Given the description of an element on the screen output the (x, y) to click on. 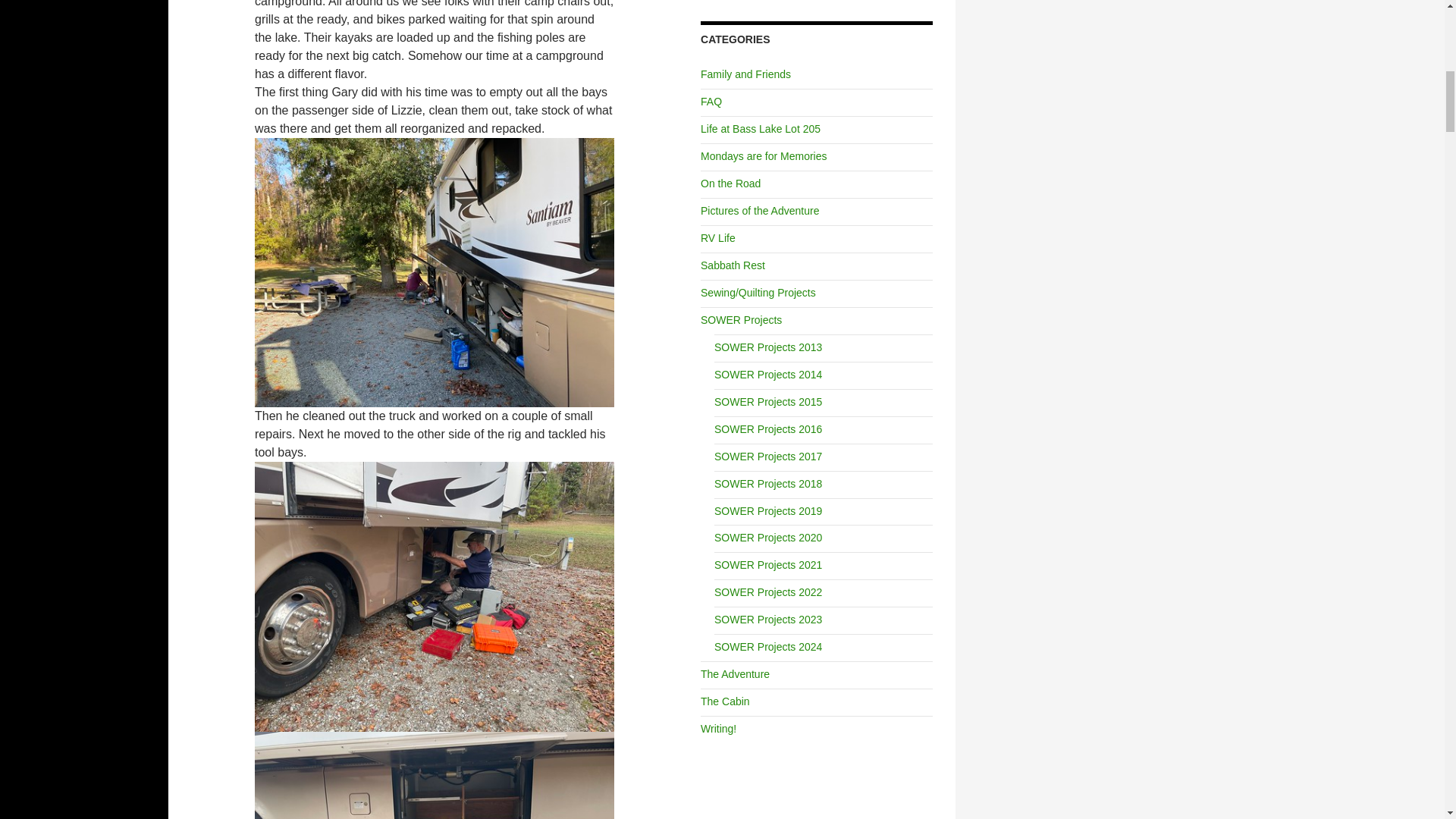
Untitled (434, 594)
Untitled (434, 271)
